Given the description of an element on the screen output the (x, y) to click on. 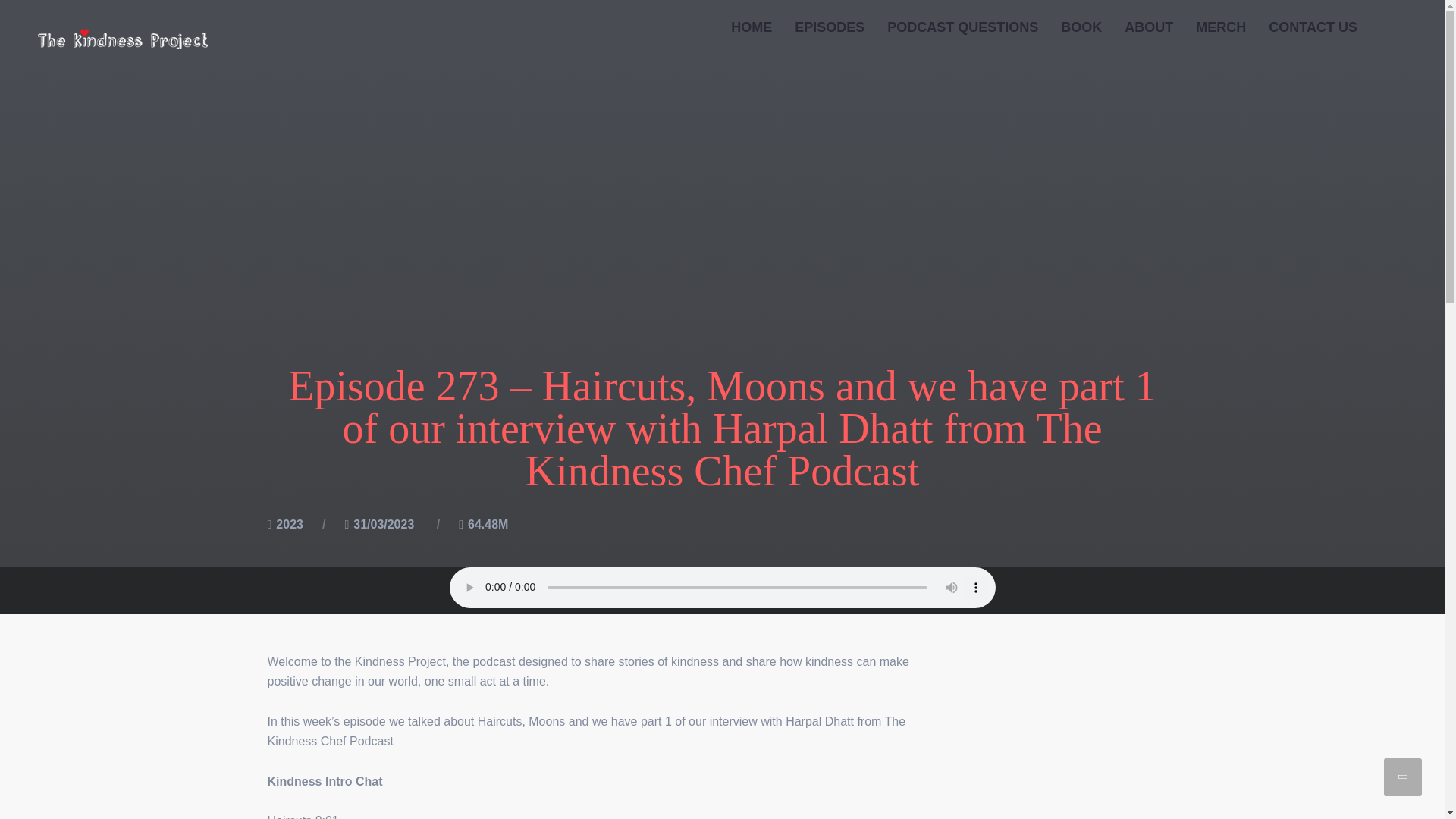
The Kindness Project (122, 37)
MERCH (1221, 27)
EPISODES (829, 27)
HOME (751, 27)
2023 (289, 524)
BOOK (1081, 27)
ABOUT (1149, 27)
PODCAST QUESTIONS (962, 27)
CONTACT US (1312, 27)
